Given the description of an element on the screen output the (x, y) to click on. 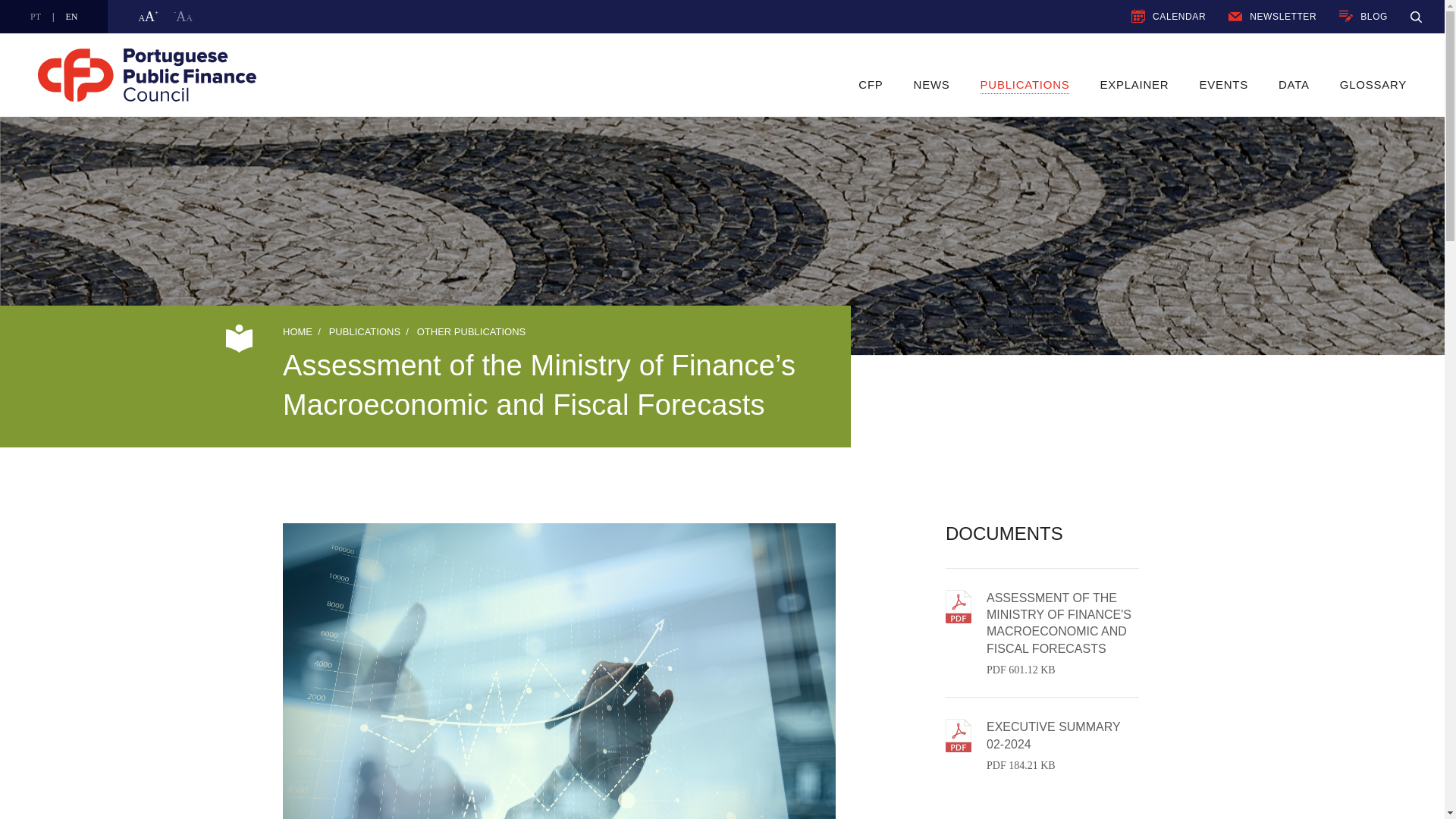
PUBLICATIONS (1024, 85)
OTHER PUBLICATIONS (470, 331)
BLOG (1345, 16)
Search (1041, 734)
BLOG BLOG (1416, 16)
DATA (1363, 16)
CALENDAR (1293, 85)
NEWSLETTER (1137, 15)
NEWS (1234, 16)
EXPLAINER (932, 85)
Go to Homepage (1134, 85)
HOME (383, 74)
